Given the description of an element on the screen output the (x, y) to click on. 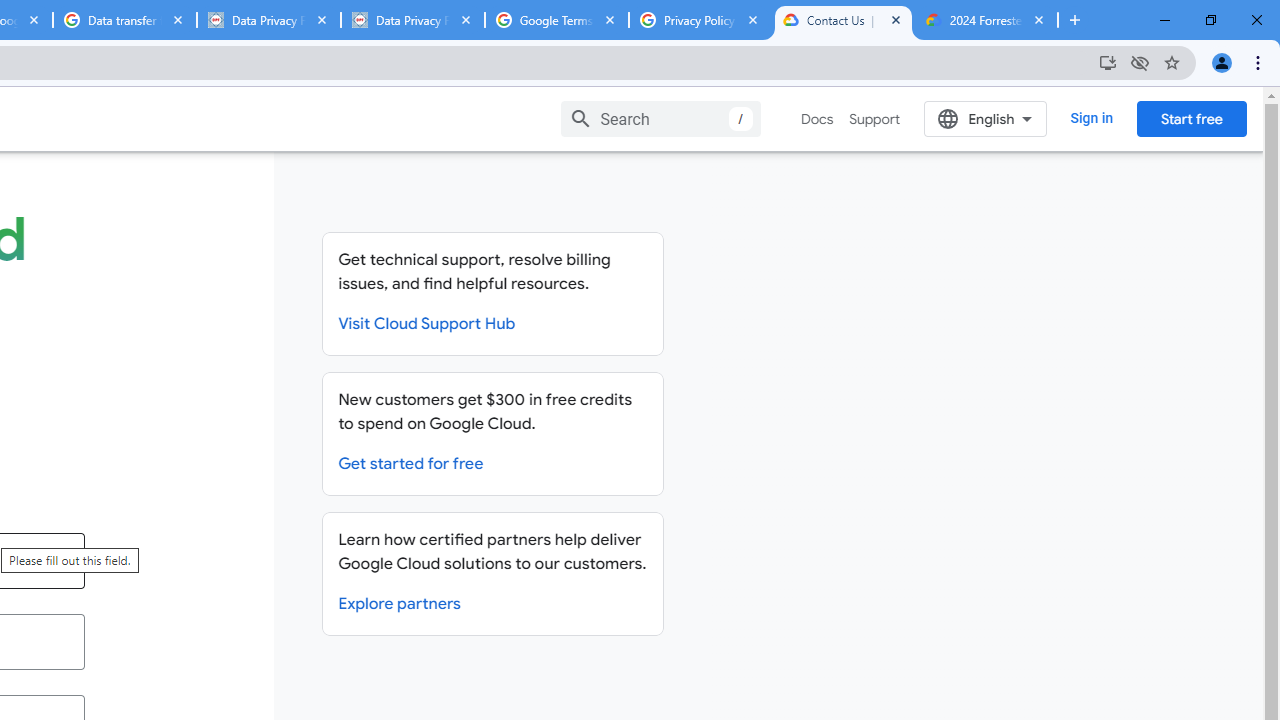
Support (874, 119)
Docs (817, 119)
Data Privacy Framework (268, 20)
